Given the description of an element on the screen output the (x, y) to click on. 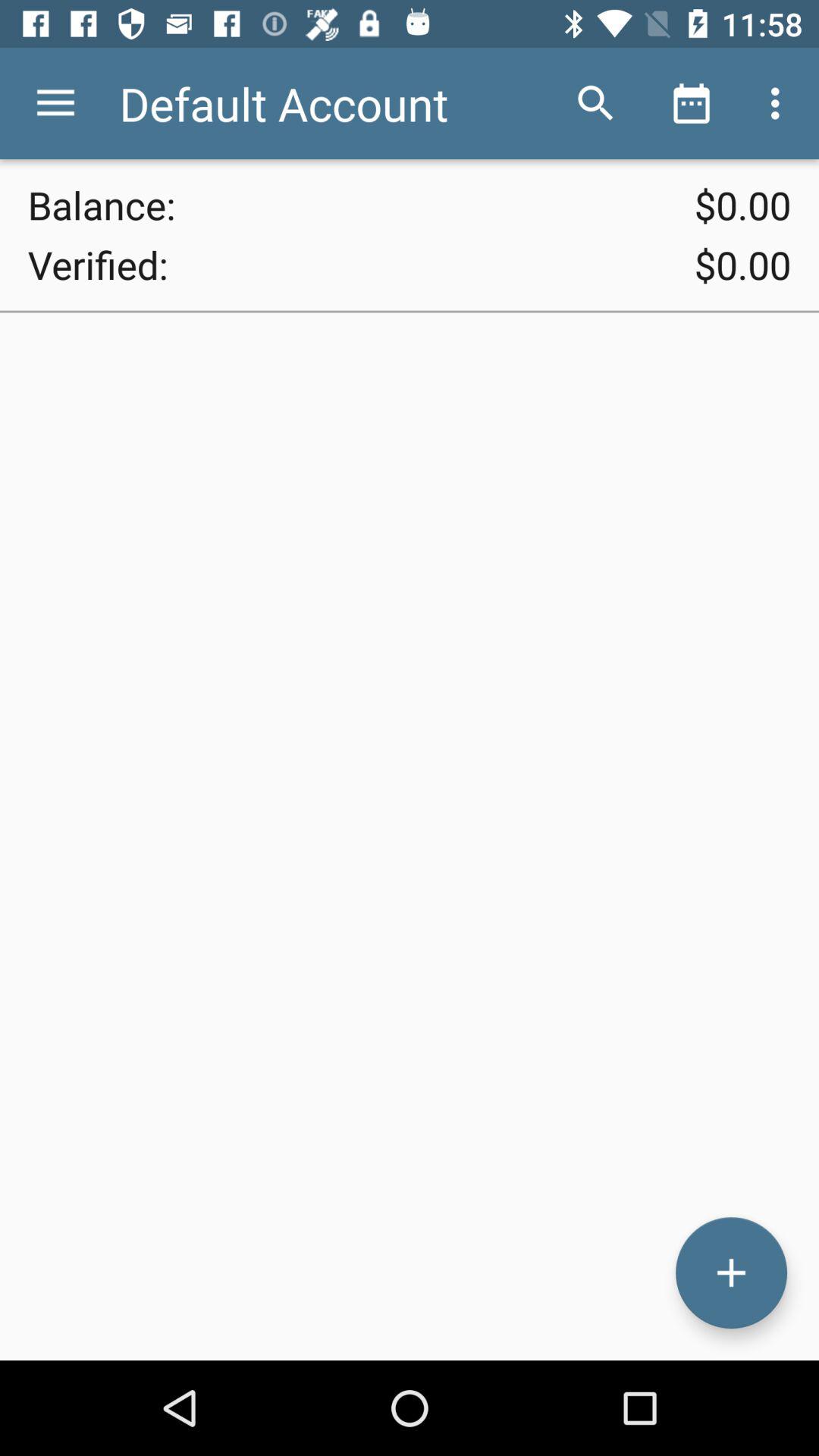
click icon at the bottom right corner (731, 1272)
